Given the description of an element on the screen output the (x, y) to click on. 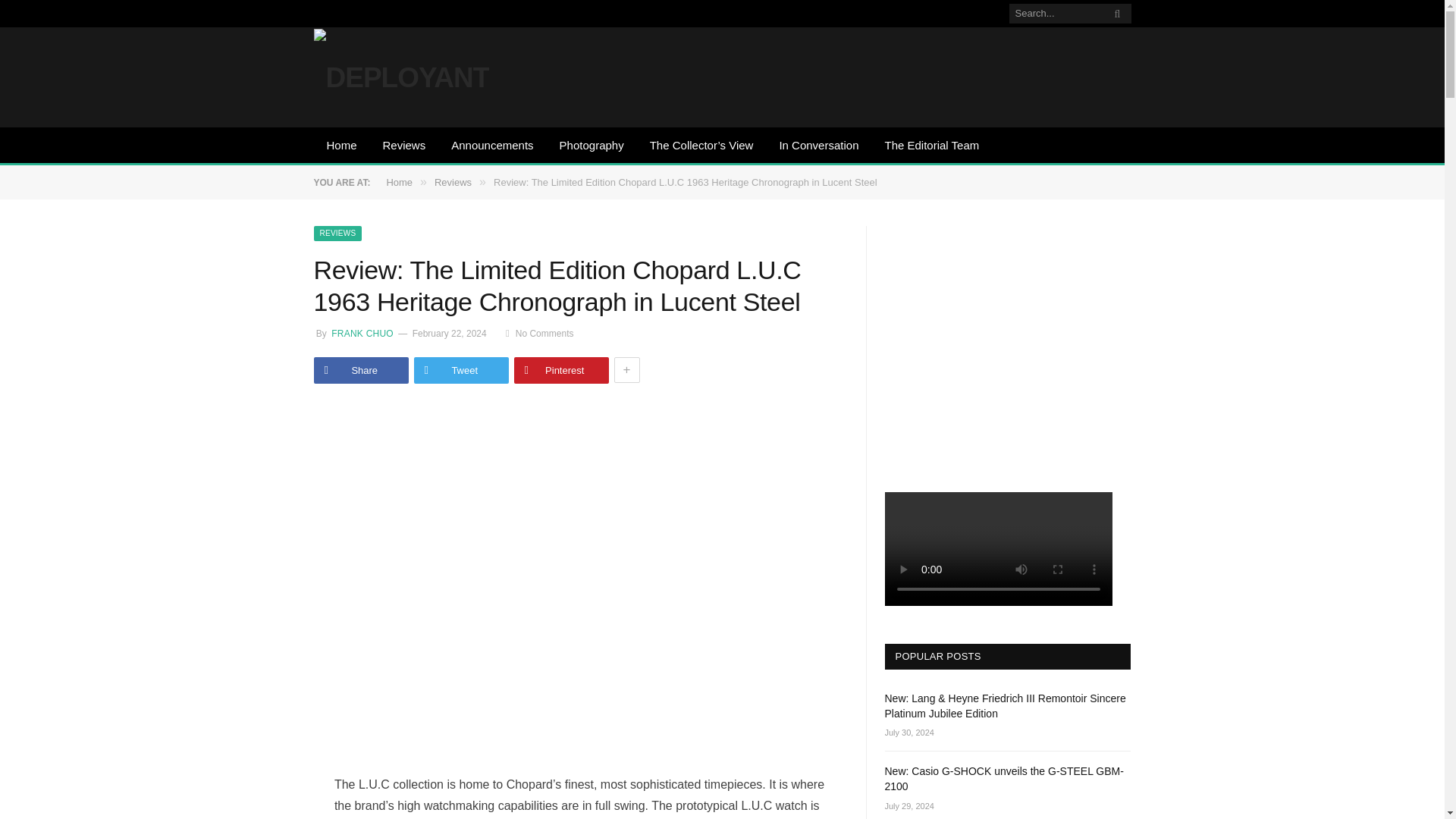
In Conversation (817, 146)
Reviews (452, 182)
Share (361, 370)
Posts by Frank Chuo (361, 333)
The Editorial Team (930, 146)
No Comments (539, 333)
Announcements (492, 146)
Reviews (404, 146)
Home (341, 146)
Reviews (338, 233)
REVIEWS (338, 233)
Tweet (460, 370)
Photography (592, 146)
Home (398, 182)
